Given the description of an element on the screen output the (x, y) to click on. 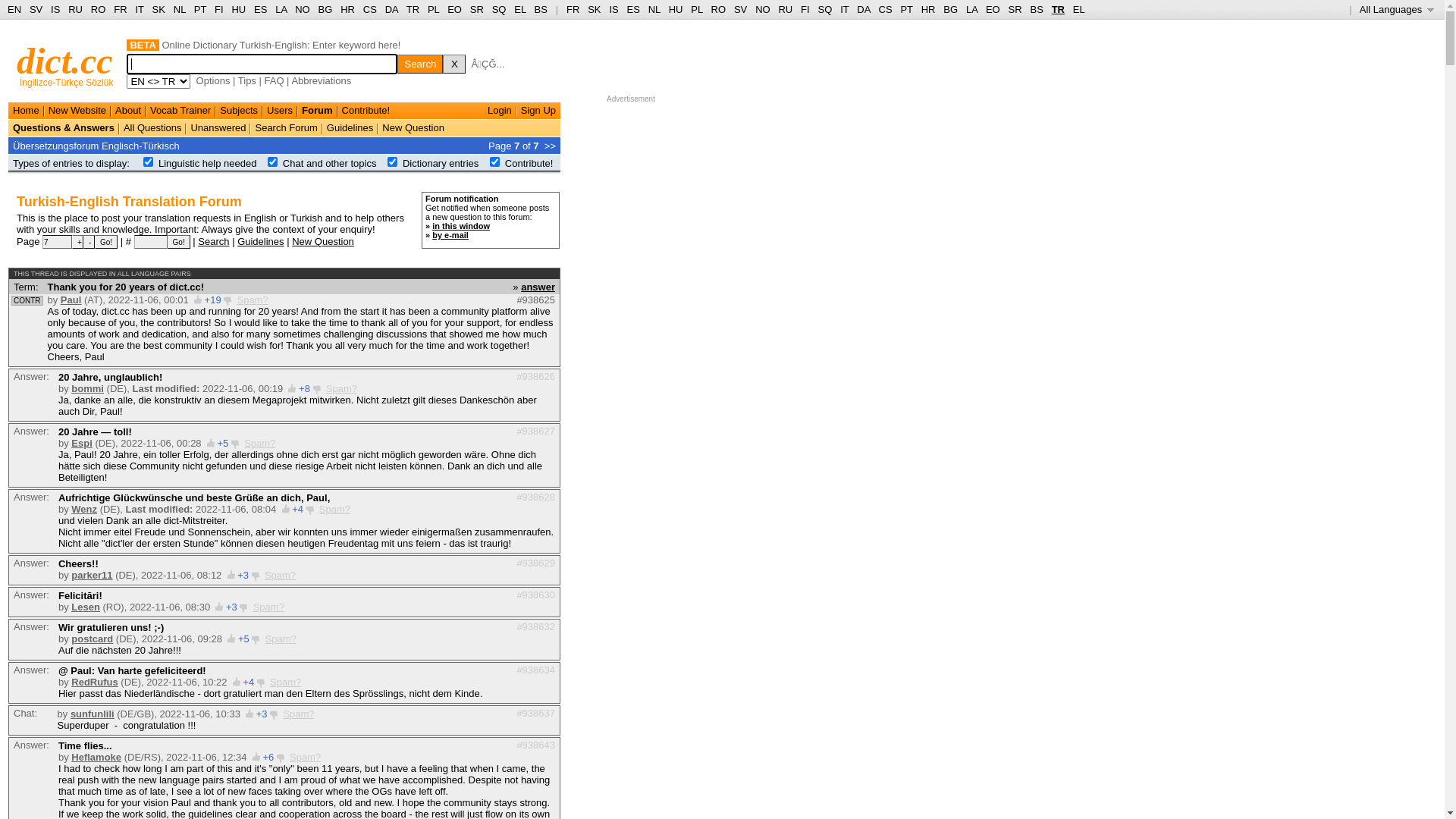
NL Element type: text (654, 9)
+3 Element type: text (242, 574)
CONTR Element type: text (26, 300)
LA Element type: text (971, 9)
Go! Element type: text (178, 241)
#938634 Element type: text (535, 669)
RO Element type: text (98, 9)
IS Element type: text (613, 9)
FAQ Element type: text (273, 80)
Turkish-English Translation Forum Element type: text (128, 201)
FI Element type: text (804, 9)
IS Element type: text (54, 9)
Spam? Element type: text (268, 606)
+4 Element type: text (248, 681)
NO Element type: text (762, 9)
PL Element type: text (433, 9)
DA Element type: text (391, 9)
BS Element type: text (540, 9)
X Element type: text (453, 63)
on Element type: text (148, 161)
BS Element type: text (1035, 9)
+6 Element type: text (267, 756)
IT Element type: text (138, 9)
Guidelines Element type: text (349, 127)
SV Element type: text (35, 9)
Questions & Answers Element type: text (63, 127)
SR Element type: text (476, 9)
TR Element type: text (412, 9)
HU Element type: text (675, 9)
HR Element type: text (347, 9)
ES Element type: text (633, 9)
Tips Element type: text (247, 80)
+5 Element type: text (243, 638)
dict.cc Element type: text (64, 60)
postcard Element type: text (91, 638)
sunfunlili Element type: text (92, 713)
FR Element type: text (119, 9)
Spam? Element type: text (304, 756)
Espi Element type: text (81, 442)
BG Element type: text (950, 9)
>> Element type: text (549, 144)
SV Element type: text (740, 9)
Subjects Element type: text (238, 110)
Chat and other topics Element type: text (329, 163)
New Question Element type: text (413, 127)
#938637 Element type: text (535, 712)
FI Element type: text (218, 9)
#938632 Element type: text (535, 625)
EO Element type: text (992, 9)
CS Element type: text (884, 9)
on Element type: text (494, 161)
Abbreviations Element type: text (321, 80)
#938626 Element type: text (535, 375)
Options Element type: text (213, 80)
FR Element type: text (572, 9)
Linguistic help needed Element type: text (207, 163)
+5 Element type: text (222, 442)
Spam? Element type: text (341, 388)
Lesen Element type: text (85, 606)
RU Element type: text (785, 9)
#938625 Element type: text (535, 299)
Spam? Element type: text (280, 638)
DA Element type: text (862, 9)
EO Element type: text (454, 9)
NO Element type: text (302, 9)
+19 Element type: text (212, 299)
TR Element type: text (1057, 9)
HU Element type: text (238, 9)
#938628 Element type: text (535, 496)
RedRufus Element type: text (94, 681)
Spam? Element type: text (259, 442)
+8 Element type: text (304, 388)
#938630 Element type: text (535, 593)
CS Element type: text (369, 9)
#938643 Element type: text (535, 743)
SQ Element type: text (499, 9)
Search Element type: text (213, 240)
Guidelines Element type: text (260, 240)
Home Element type: text (25, 110)
EL Element type: text (1079, 9)
on Element type: text (272, 161)
PT Element type: text (200, 9)
RO Element type: text (718, 9)
PT Element type: text (906, 9)
parker11 Element type: text (91, 574)
+3 Element type: text (231, 606)
Unanswered Element type: text (217, 127)
SR Element type: text (1015, 9)
Go! Element type: text (105, 241)
Wenz Element type: text (84, 508)
EL Element type: text (519, 9)
on Element type: text (392, 161)
Forum Element type: text (316, 110)
Spam? Element type: text (279, 574)
Spam? Element type: text (285, 681)
Paul Element type: text (70, 299)
New Website Element type: text (77, 110)
#938627 Element type: text (535, 430)
#938629 Element type: text (535, 561)
Search Element type: text (419, 63)
New Question Element type: text (322, 240)
answer Element type: text (537, 285)
SK Element type: text (593, 9)
Spam? Element type: text (334, 508)
All Languages  Element type: text (1396, 9)
All Questions Element type: text (152, 127)
SQ Element type: text (824, 9)
Sign Up Element type: text (537, 110)
NL Element type: text (179, 9)
Search Forum Element type: text (285, 127)
Spam? Element type: text (251, 299)
EN Element type: text (14, 9)
BG Element type: text (325, 9)
Heflamoke Element type: text (96, 756)
LA Element type: text (280, 9)
About Element type: text (128, 110)
Dictionary entries Element type: text (440, 163)
+3 Element type: text (261, 713)
RU Element type: text (75, 9)
IT Element type: text (844, 9)
Login Element type: text (499, 110)
Contribute! Element type: text (529, 163)
Contribute! Element type: text (366, 110)
bommi Element type: text (87, 388)
Spam? Element type: text (297, 713)
Vocab Trainer Element type: text (180, 110)
Users Element type: text (279, 110)
+4 Element type: text (297, 508)
ES Element type: text (260, 9)
SK Element type: text (158, 9)
HR Element type: text (928, 9)
PL Element type: text (696, 9)
